Given the description of an element on the screen output the (x, y) to click on. 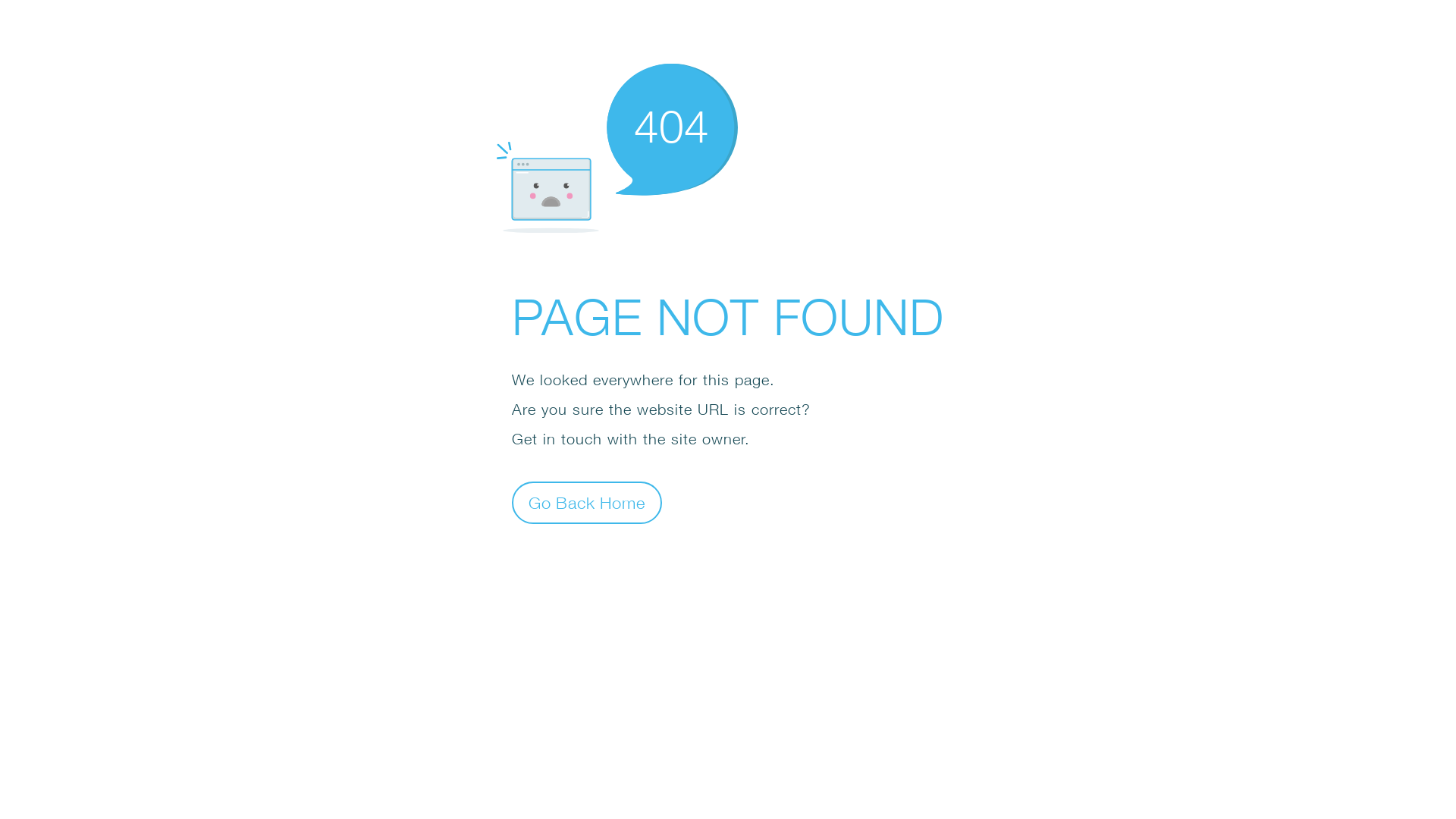
Go Back Home Element type: text (586, 502)
